Given the description of an element on the screen output the (x, y) to click on. 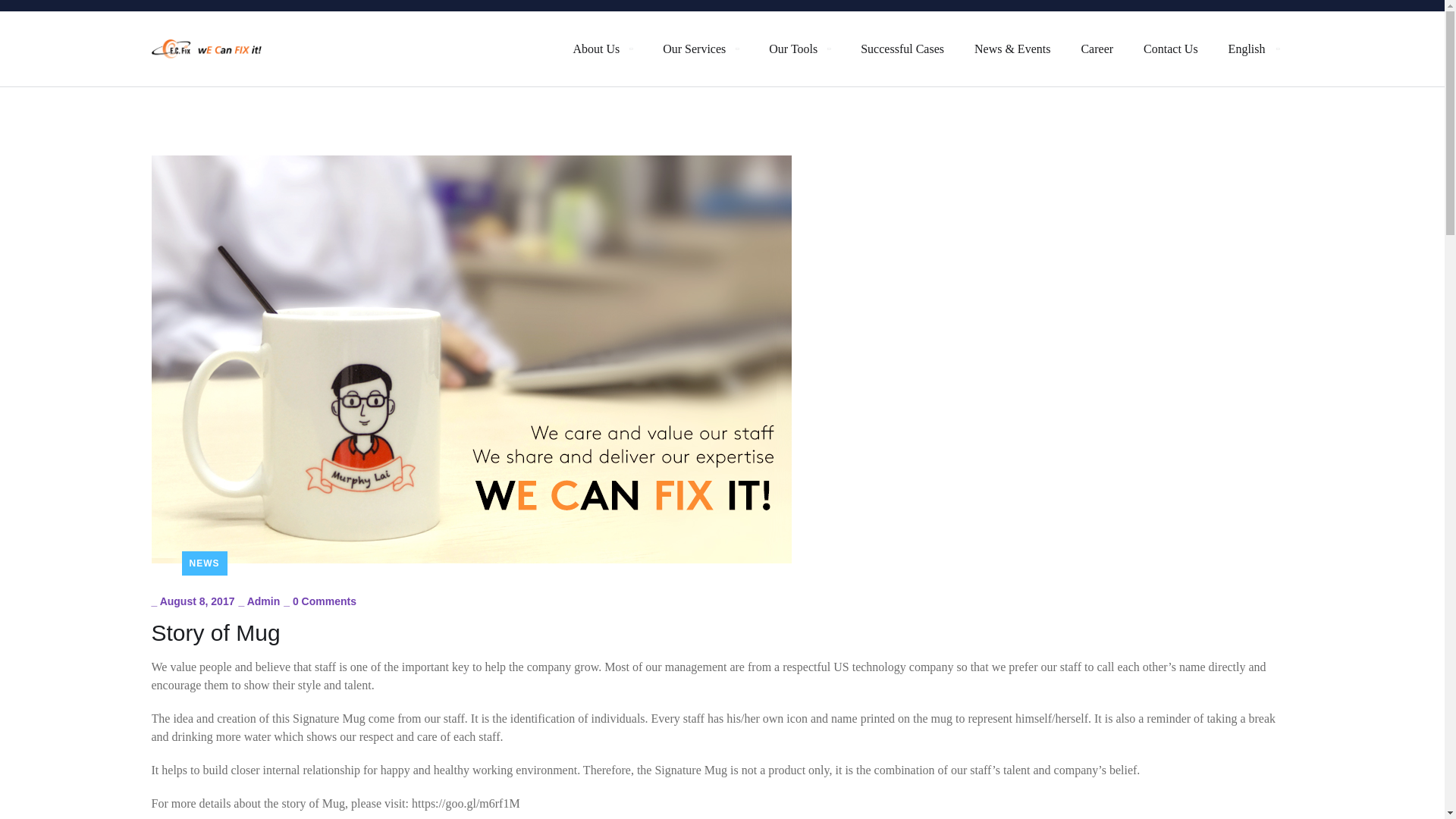
Our Services (700, 48)
Successful Cases (901, 48)
